Given the description of an element on the screen output the (x, y) to click on. 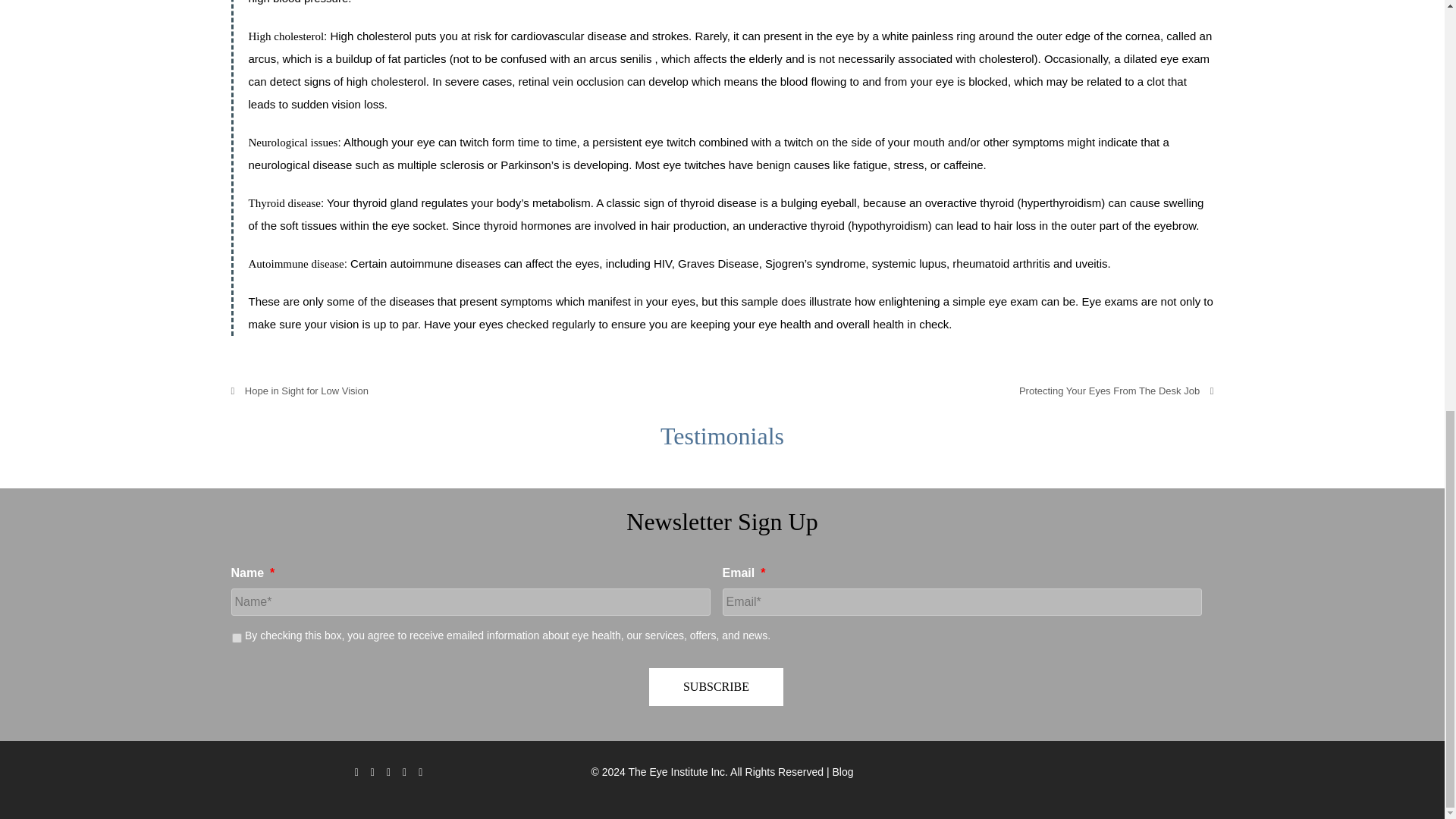
Protecting Your Eyes From The Desk Job (1116, 390)
Hope in Sight for Low Vision (299, 390)
Subscribe (716, 686)
